Given the description of an element on the screen output the (x, y) to click on. 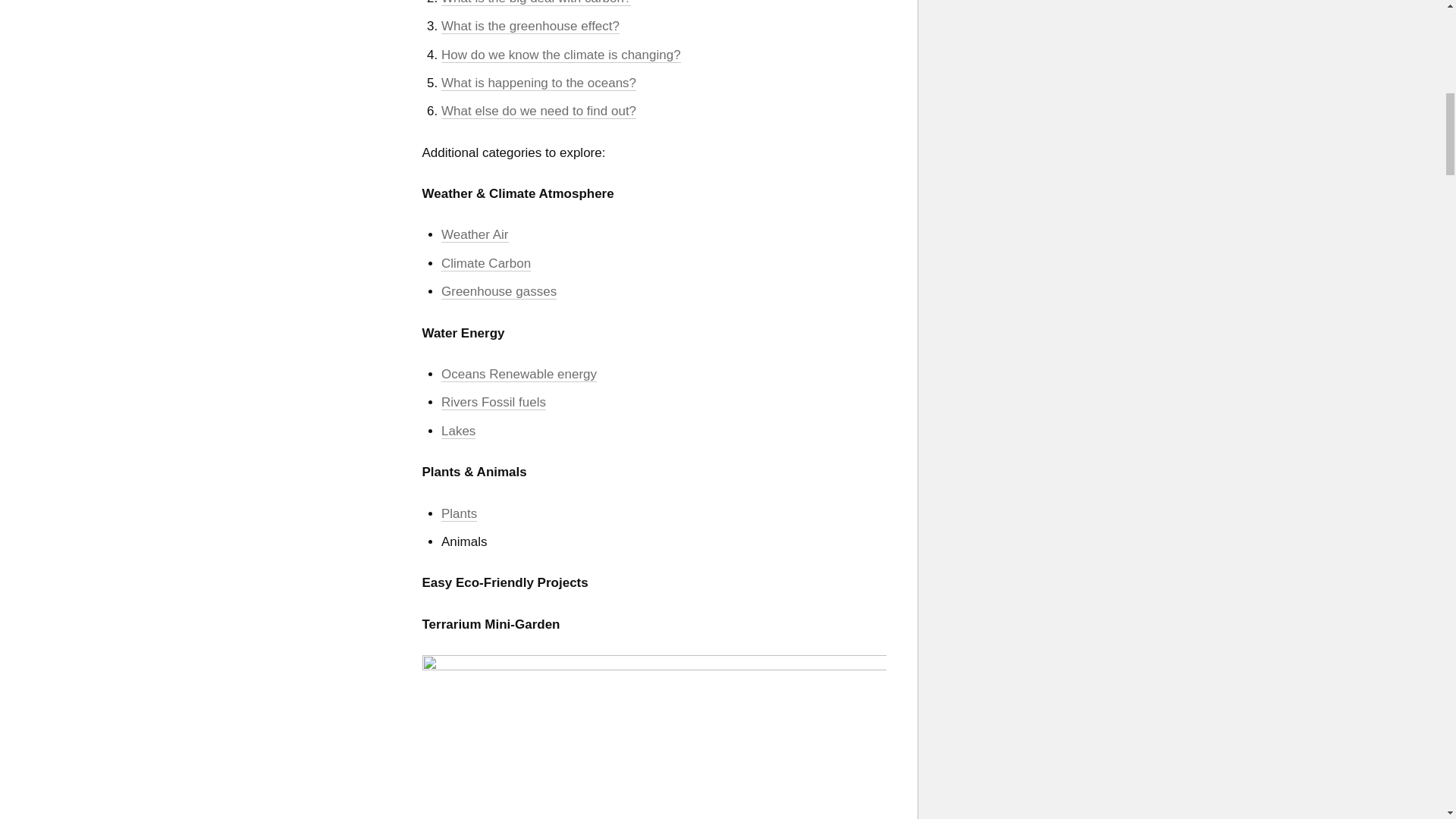
What else do we need to find out? (538, 111)
Climate (464, 263)
Greenhouse gasses (498, 291)
What is the greenhouse effect? (530, 26)
How do we know the climate is changing? (561, 54)
Air (500, 234)
What is the big deal with carbon? (535, 2)
Oceans (465, 374)
Lakes (458, 431)
Rivers (461, 402)
Weather (467, 234)
Fossil fuels (513, 402)
Plants (459, 513)
What is happening to the oceans? (538, 83)
Carbon (509, 263)
